Given the description of an element on the screen output the (x, y) to click on. 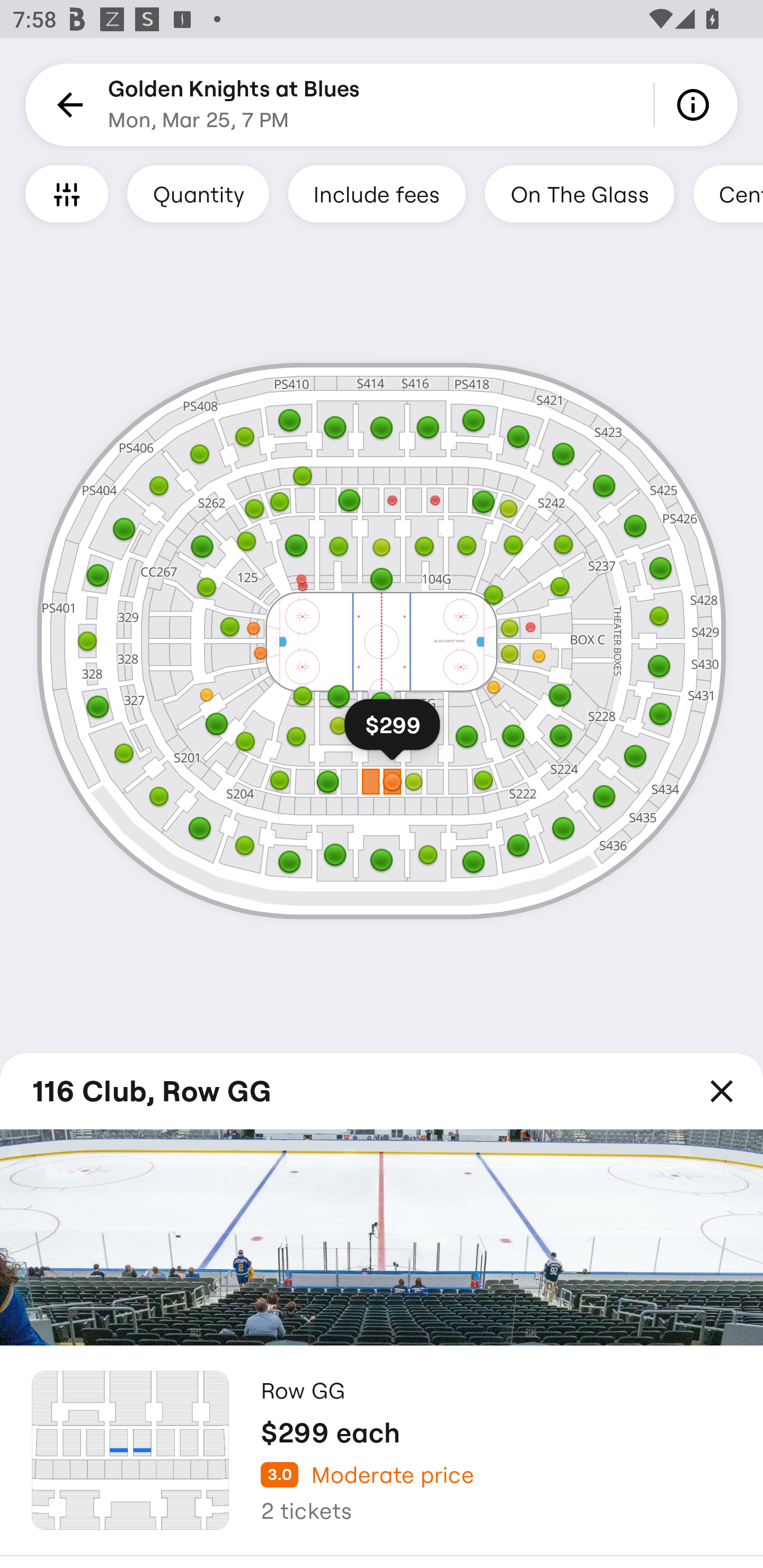
Back (66, 104)
Golden Knights at Blues Mon, Mar 25, 7 PM (234, 104)
Info (695, 104)
Filters and Accessible Seating (66, 193)
Quantity (198, 193)
Include fees (376, 193)
On The Glass (579, 193)
$299 (391, 732)
Close (721, 1090)
Row GG $299 each 3.0 Moderate price 2 tickets (381, 1451)
